Given the description of an element on the screen output the (x, y) to click on. 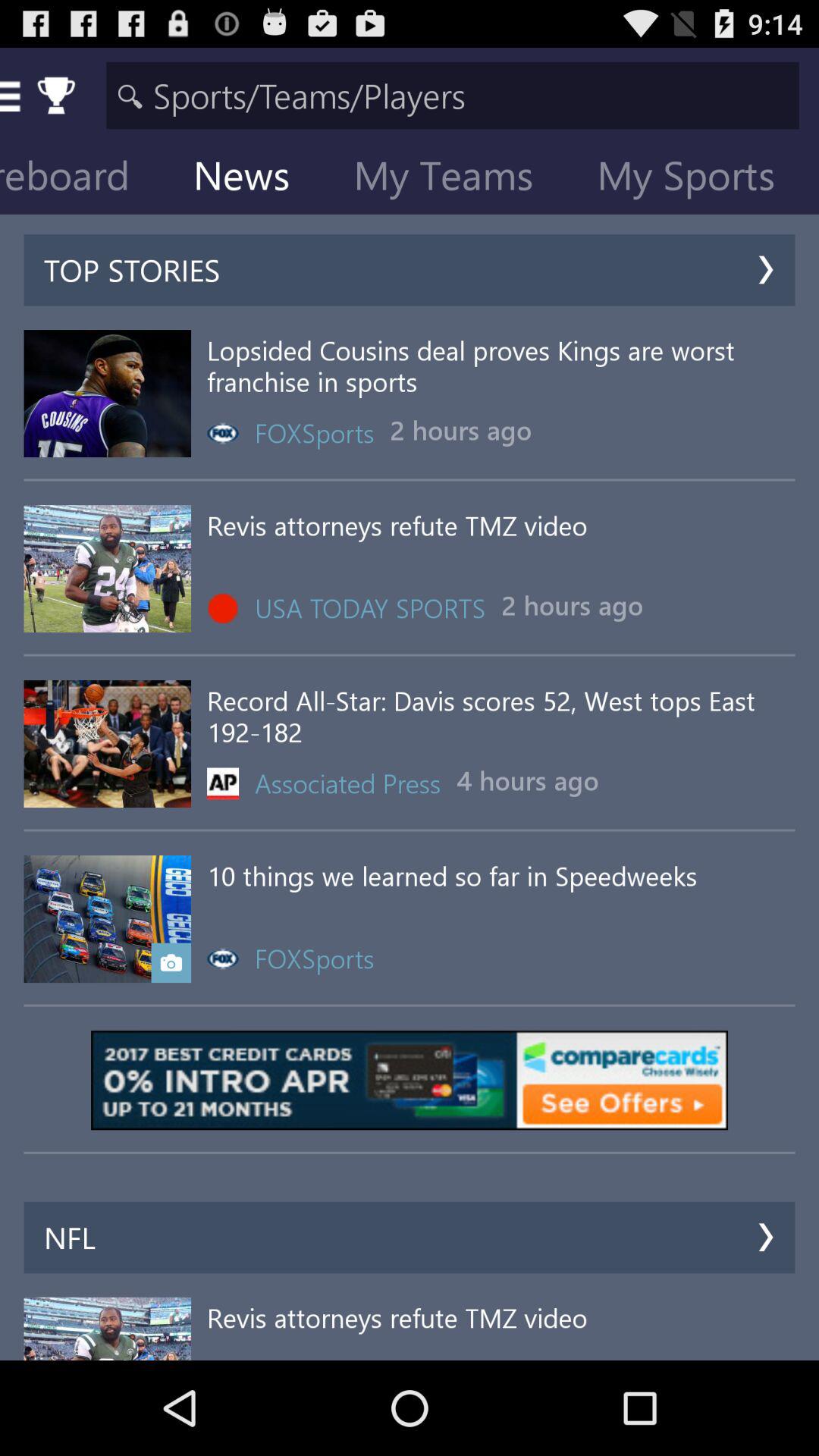
flip until my sports item (698, 178)
